Given the description of an element on the screen output the (x, y) to click on. 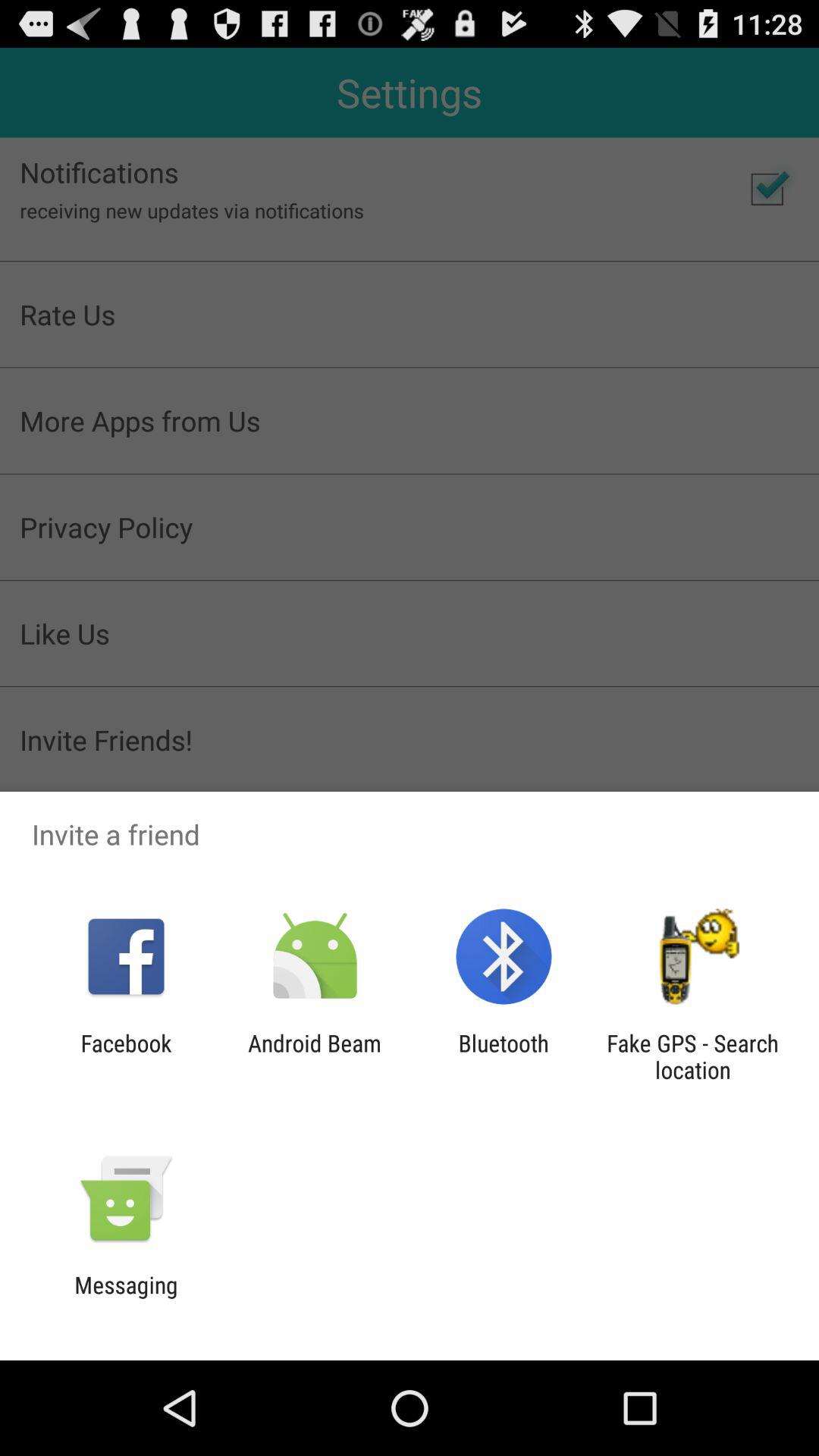
turn off icon to the left of android beam app (125, 1056)
